Given the description of an element on the screen output the (x, y) to click on. 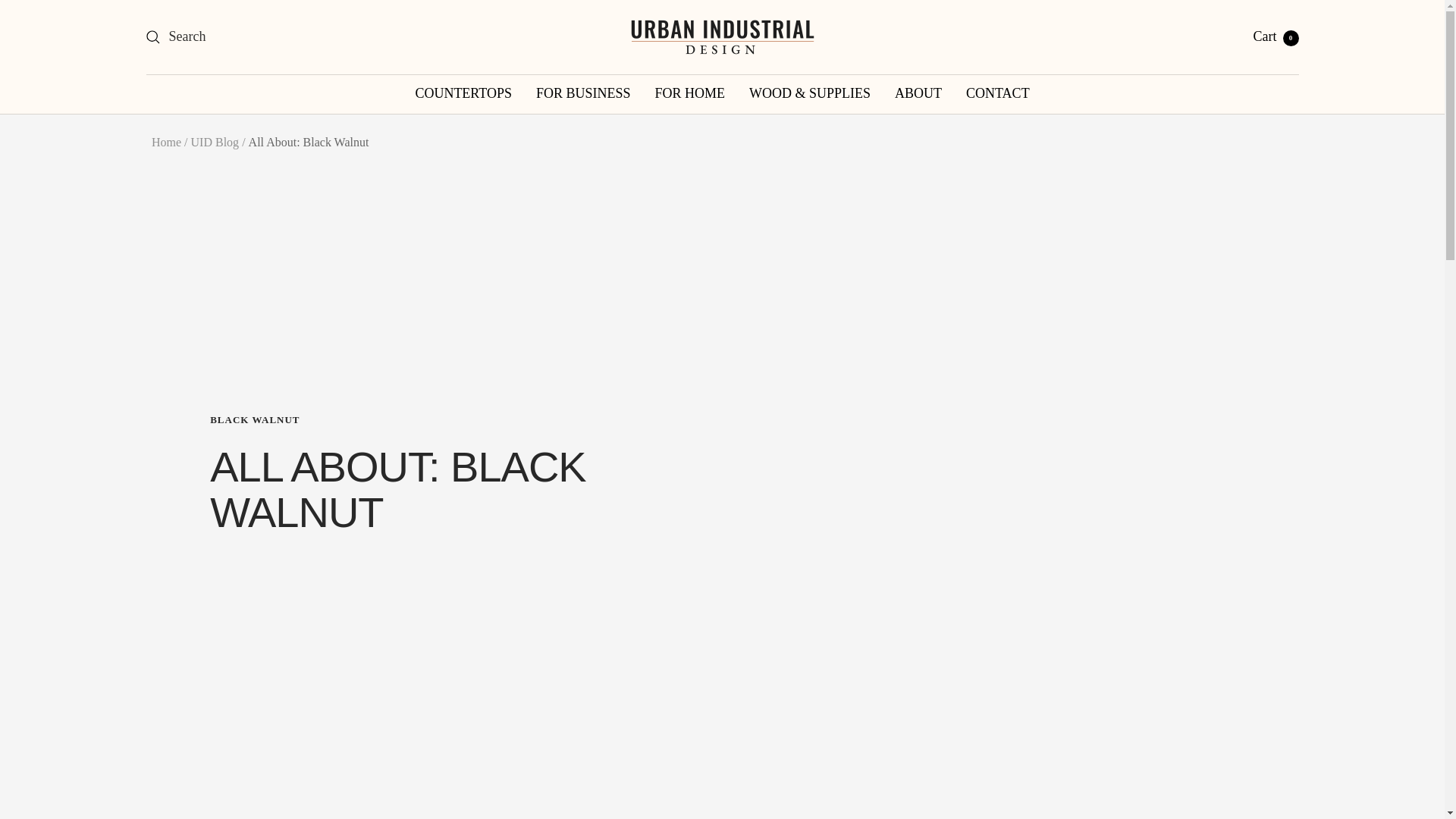
COUNTERTOPS (463, 93)
Urban Industrial Design (1275, 36)
FOR HOME (721, 36)
UID Blog (690, 93)
BLACK WALNUT (215, 141)
CONTACT (438, 419)
Home (997, 93)
FOR BUSINESS (165, 141)
ABOUT (582, 93)
